Given the description of an element on the screen output the (x, y) to click on. 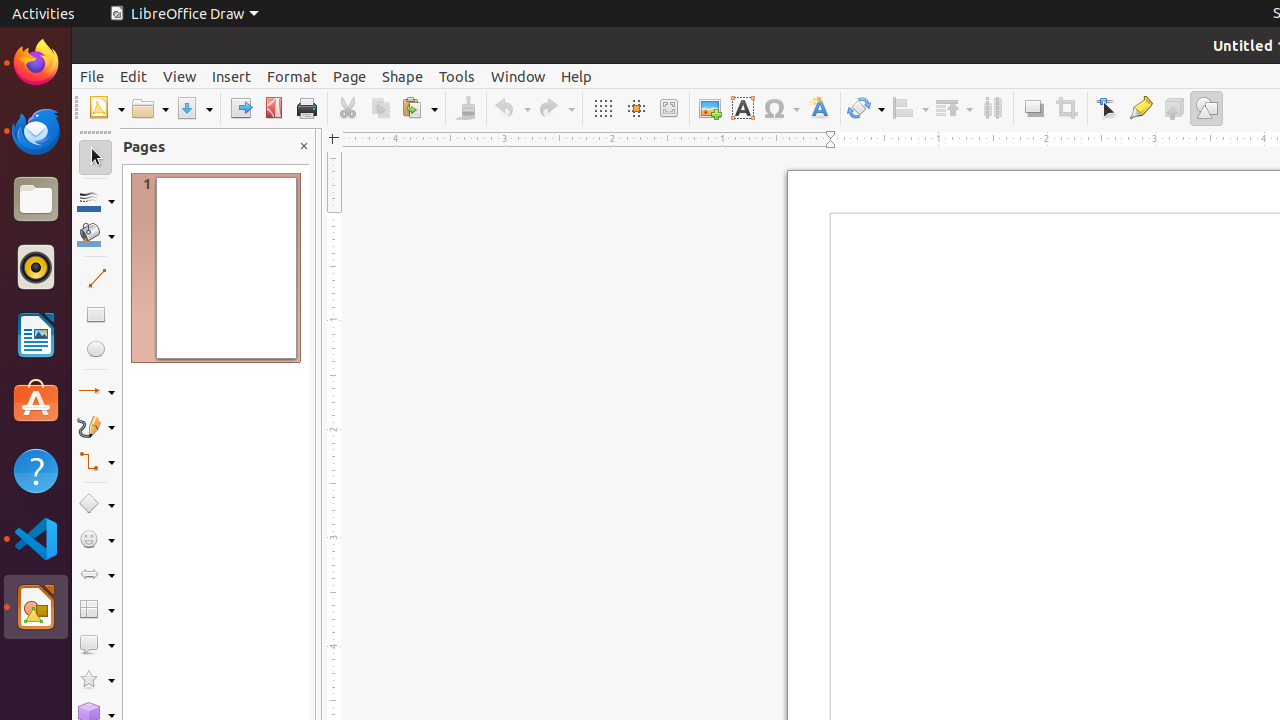
Star Shapes Element type: push-button (96, 679)
Rhythmbox Element type: push-button (36, 267)
Thunderbird Mail Element type: push-button (36, 131)
Print Element type: push-button (306, 108)
Cut Element type: push-button (347, 108)
